Given the description of an element on the screen output the (x, y) to click on. 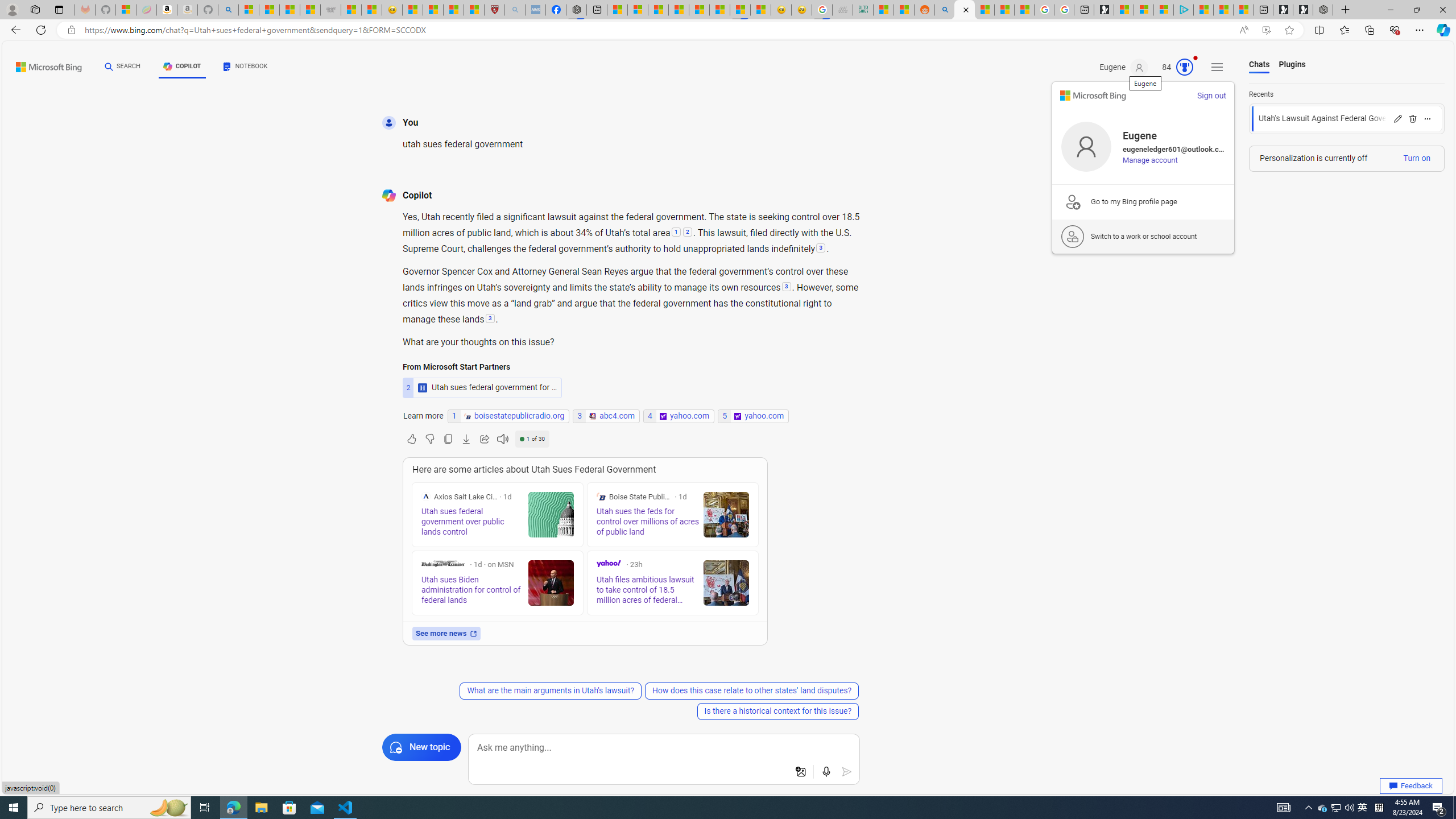
See more news (446, 633)
Back to Bing search (41, 64)
What are the main arguments in Utah's lawsuit? (551, 690)
Read aloud (502, 438)
Boise State Public Radio (600, 496)
